Given the description of an element on the screen output the (x, y) to click on. 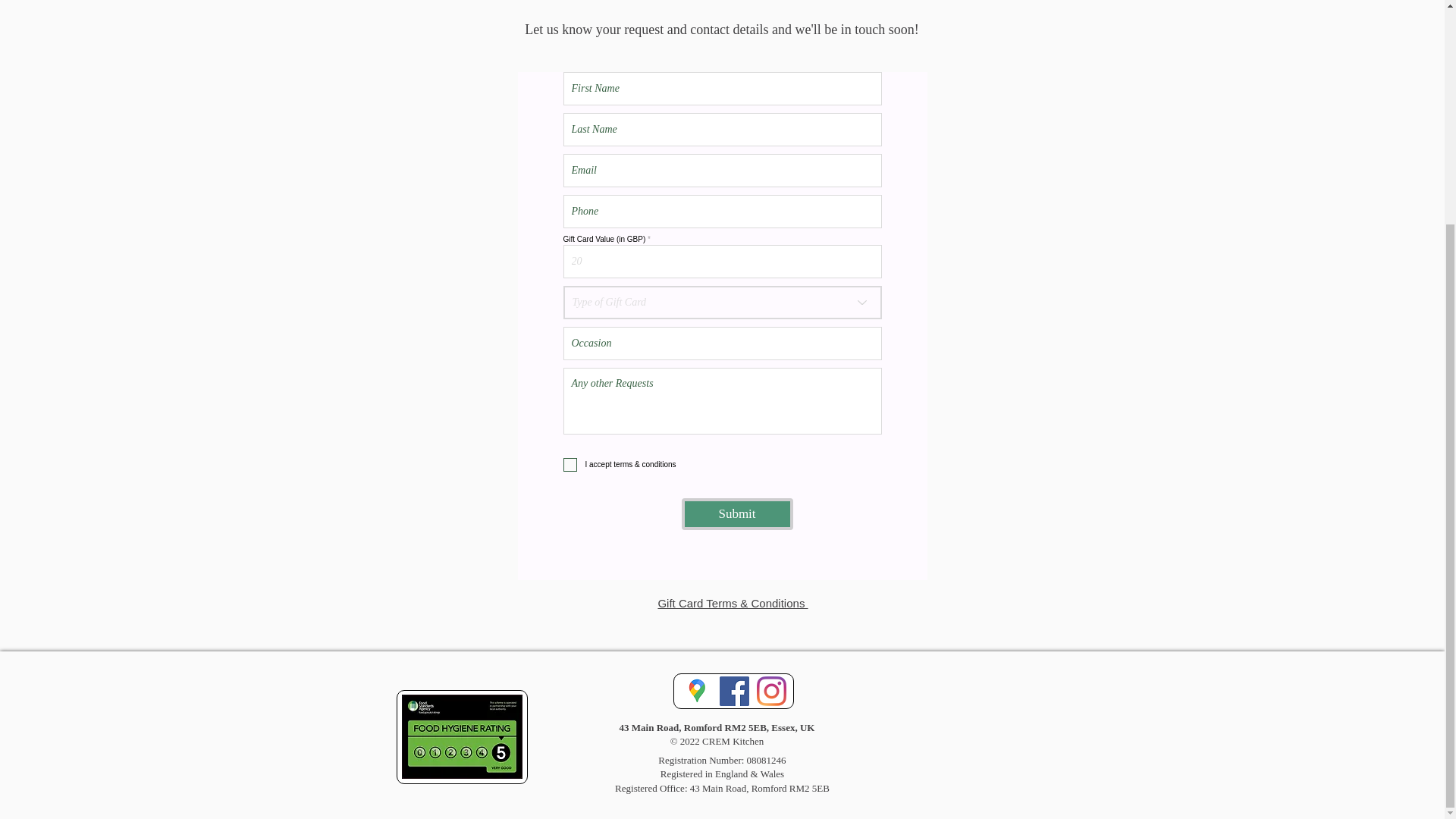
20 (721, 261)
Submit (736, 513)
